Given the description of an element on the screen output the (x, y) to click on. 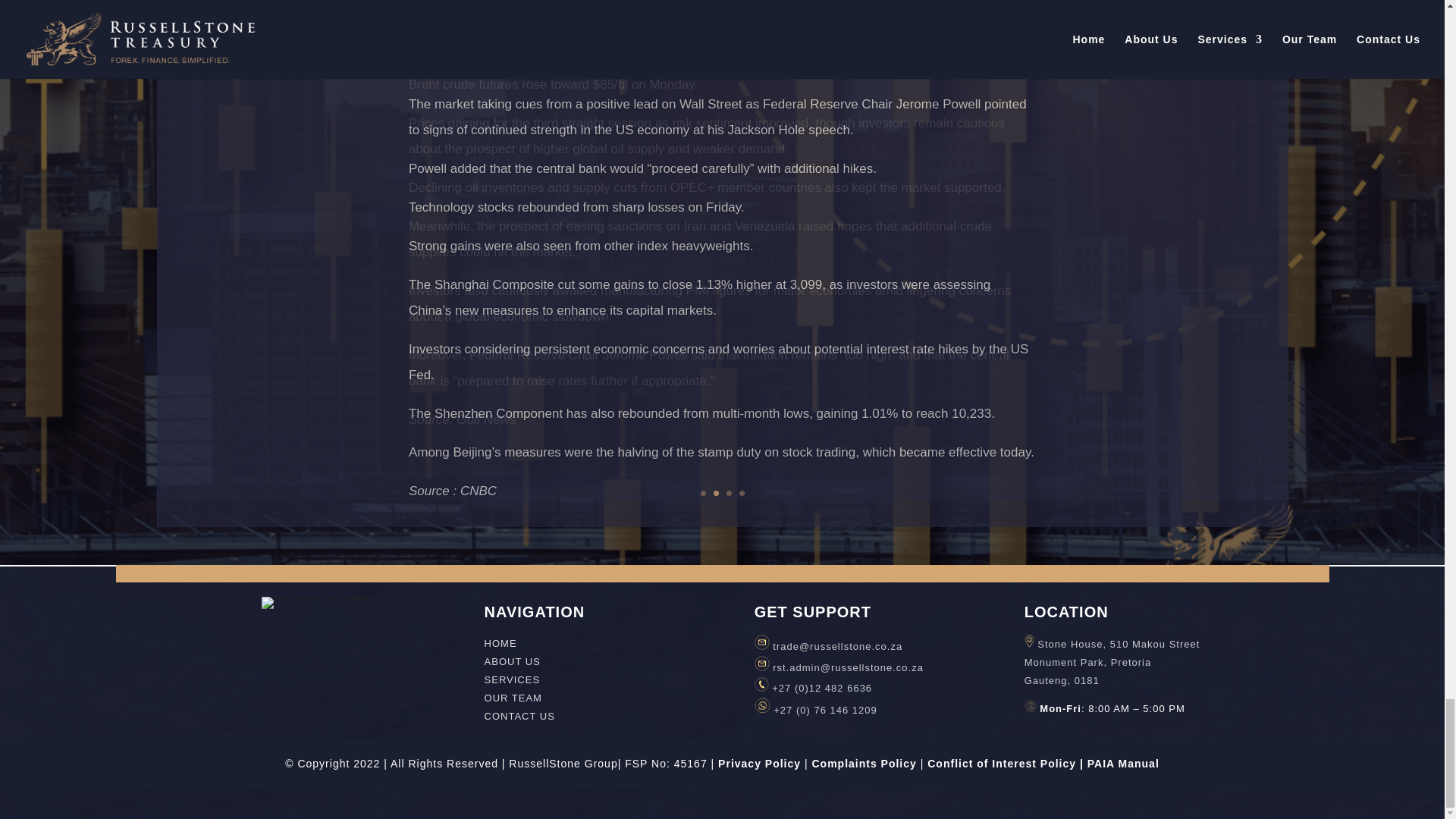
3 (729, 493)
Stone House, 510 Makou Street (1117, 644)
ABOUT US (512, 661)
Conflict of Interest Policy (1001, 763)
PAIA Manual (1122, 763)
Trasury Icons-08 (321, 603)
Gauteng, 0181 (1062, 680)
CONTACT US (519, 715)
Complaints Policy (862, 763)
SERVICES (512, 679)
Monument Park, Pretoria (1088, 662)
OUR TEAM (512, 697)
4 (741, 493)
Privacy Policy (758, 763)
